Given the description of an element on the screen output the (x, y) to click on. 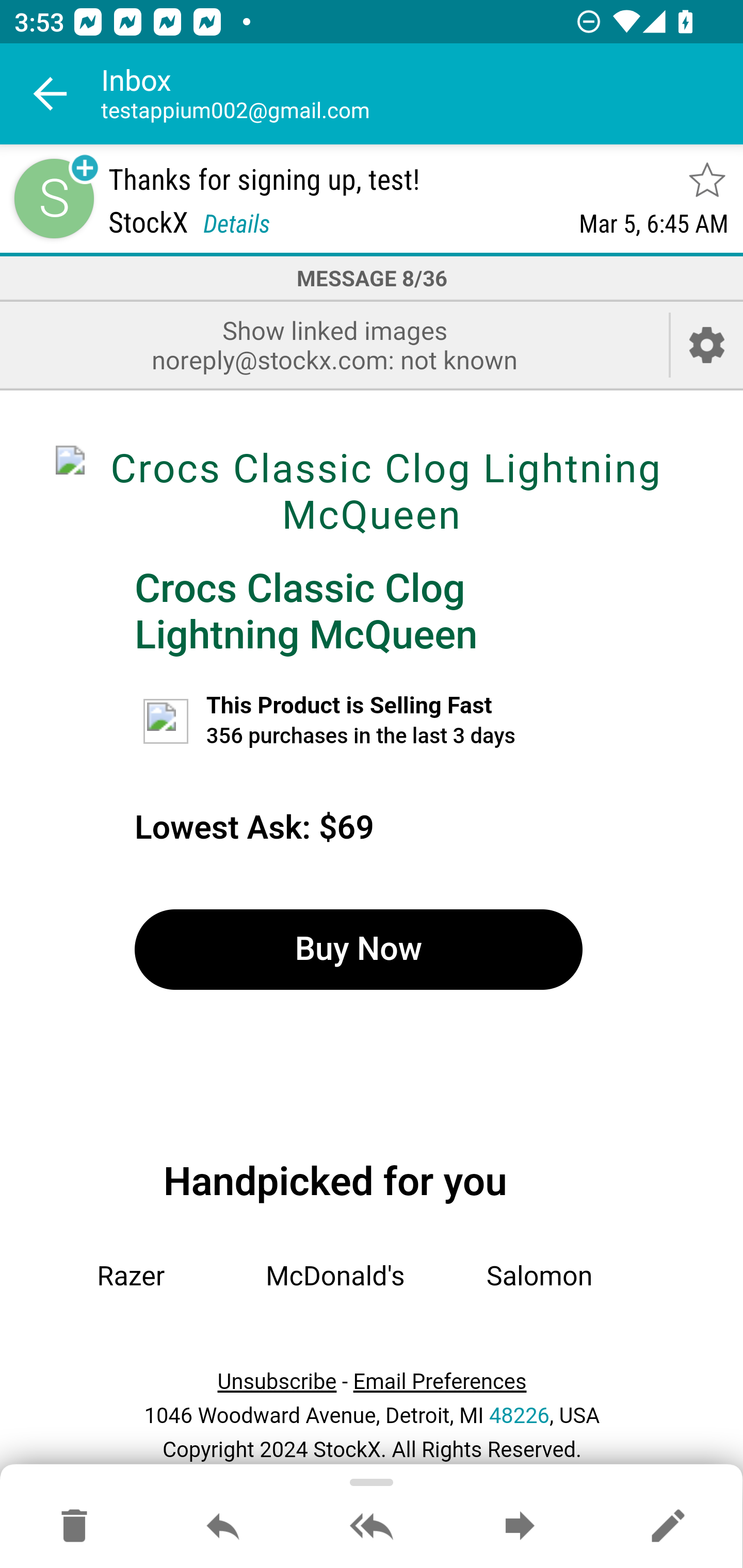
Navigate up (50, 93)
Inbox testappium002@gmail.com (422, 93)
Sender contact button (53, 198)
Show linked images
noreply@stockx.com: not known (334, 344)
Account setup (706, 344)
Crocs Classic Clog Lightning McQueen (371, 491)
Crocs Classic Clog Lightning McQueen (305, 611)
Buy Now (357, 949)
Handpicked for you (334, 1181)
Unsubscribe (276, 1381)
Email Preferences (439, 1381)
48226 (518, 1415)
Move to Deleted (74, 1527)
Reply (222, 1527)
Reply all (371, 1527)
Forward (519, 1527)
Reply as new (667, 1527)
